Given the description of an element on the screen output the (x, y) to click on. 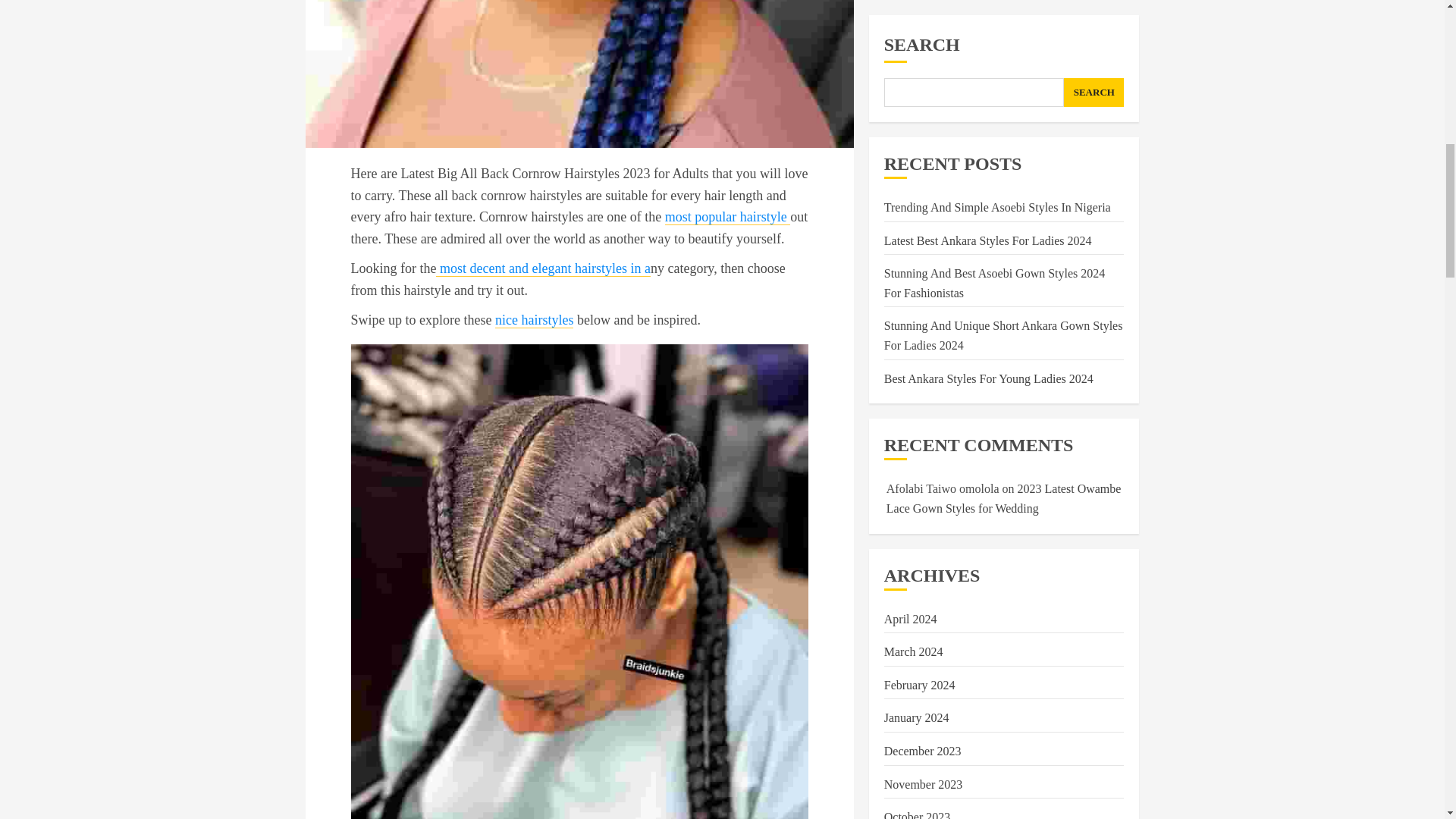
most popular hairstyle  (727, 217)
most popular hairstyle (727, 217)
 most decent and elegant hairstyles in a (542, 268)
most decent and elegant hairstyles in a (542, 268)
nice hairstyles (534, 320)
nice hairstyles (534, 320)
